Given the description of an element on the screen output the (x, y) to click on. 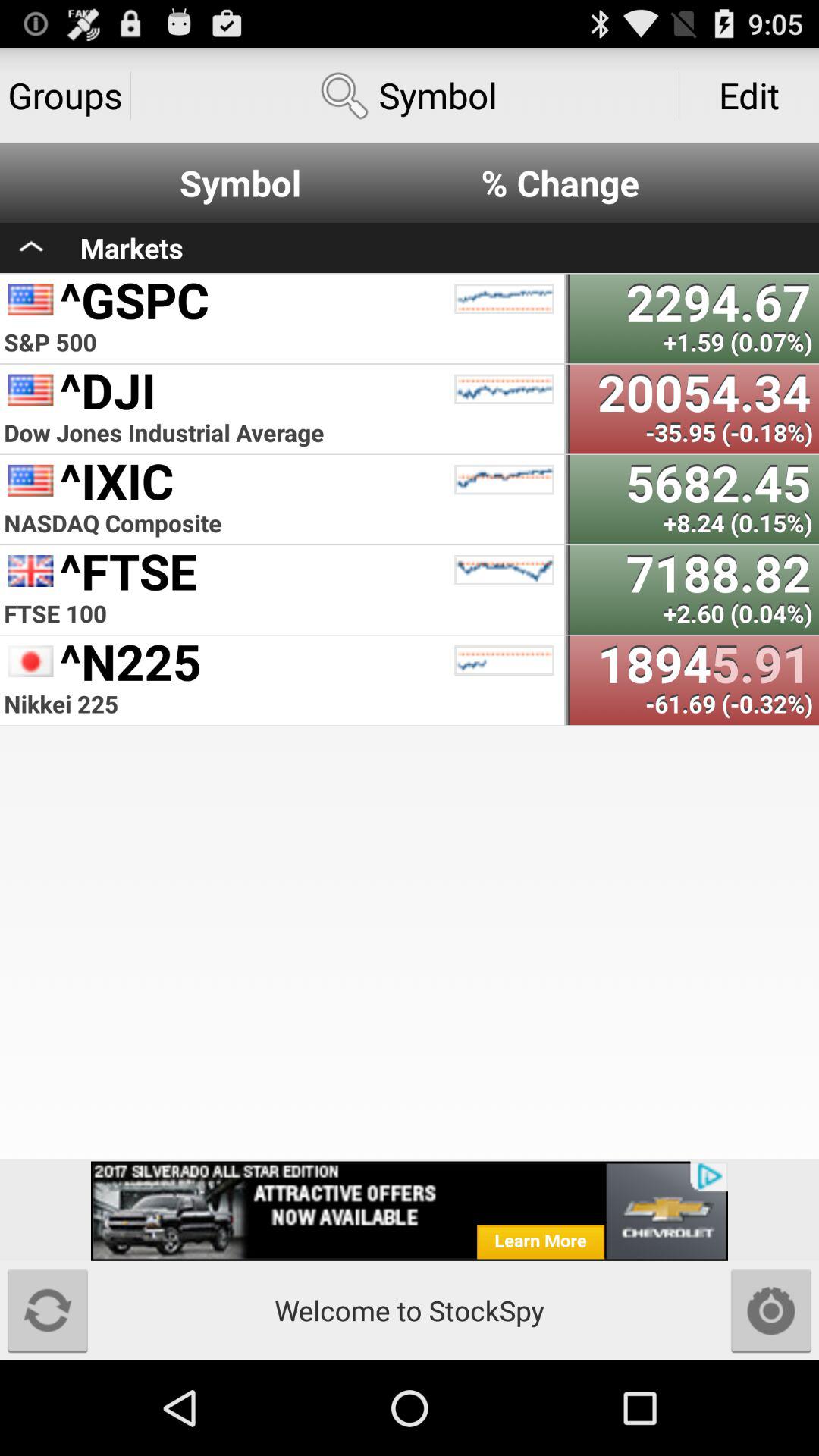
reload page (47, 1310)
